Given the description of an element on the screen output the (x, y) to click on. 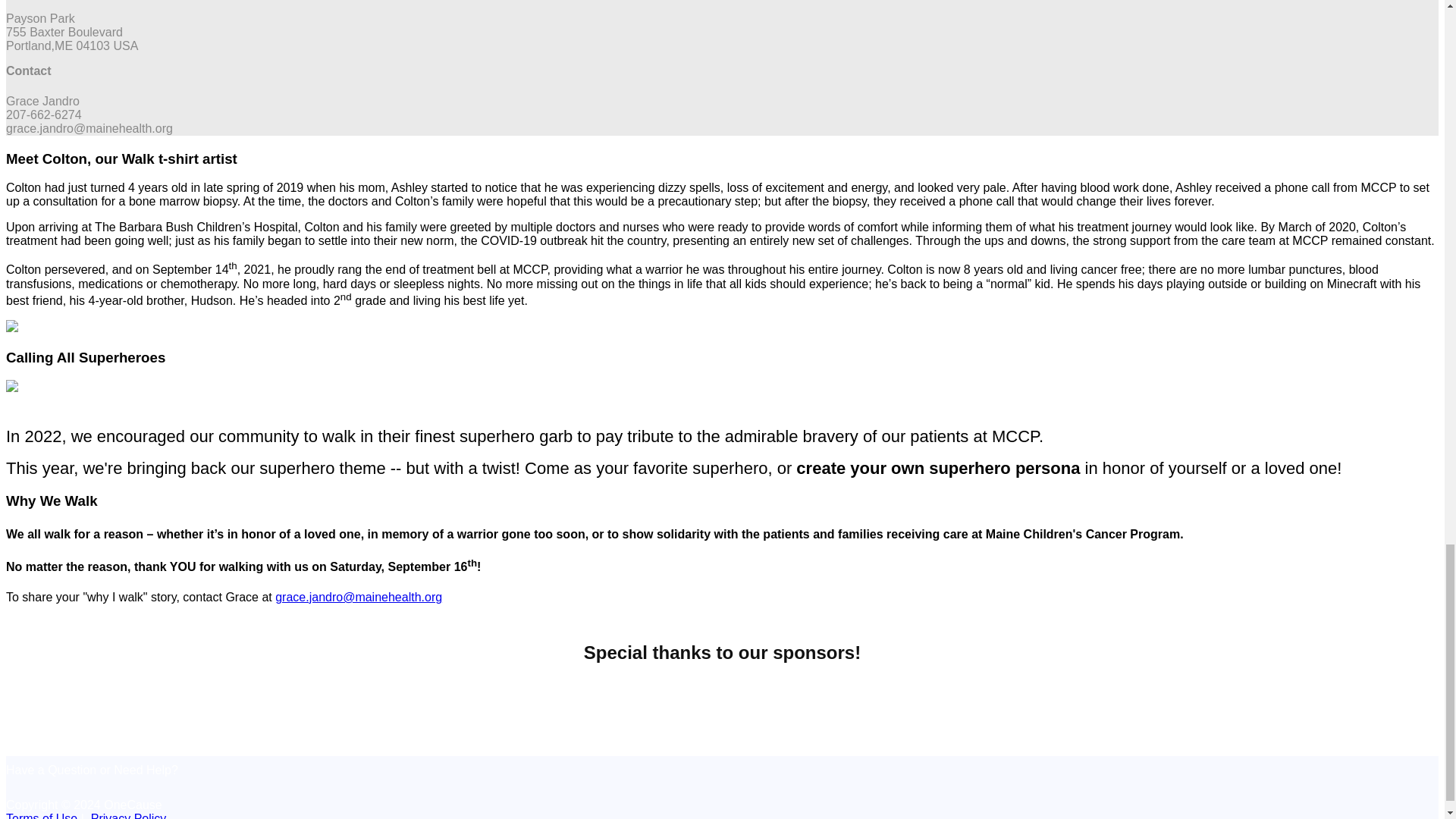
Have a Question or Need Help? (91, 769)
